Given the description of an element on the screen output the (x, y) to click on. 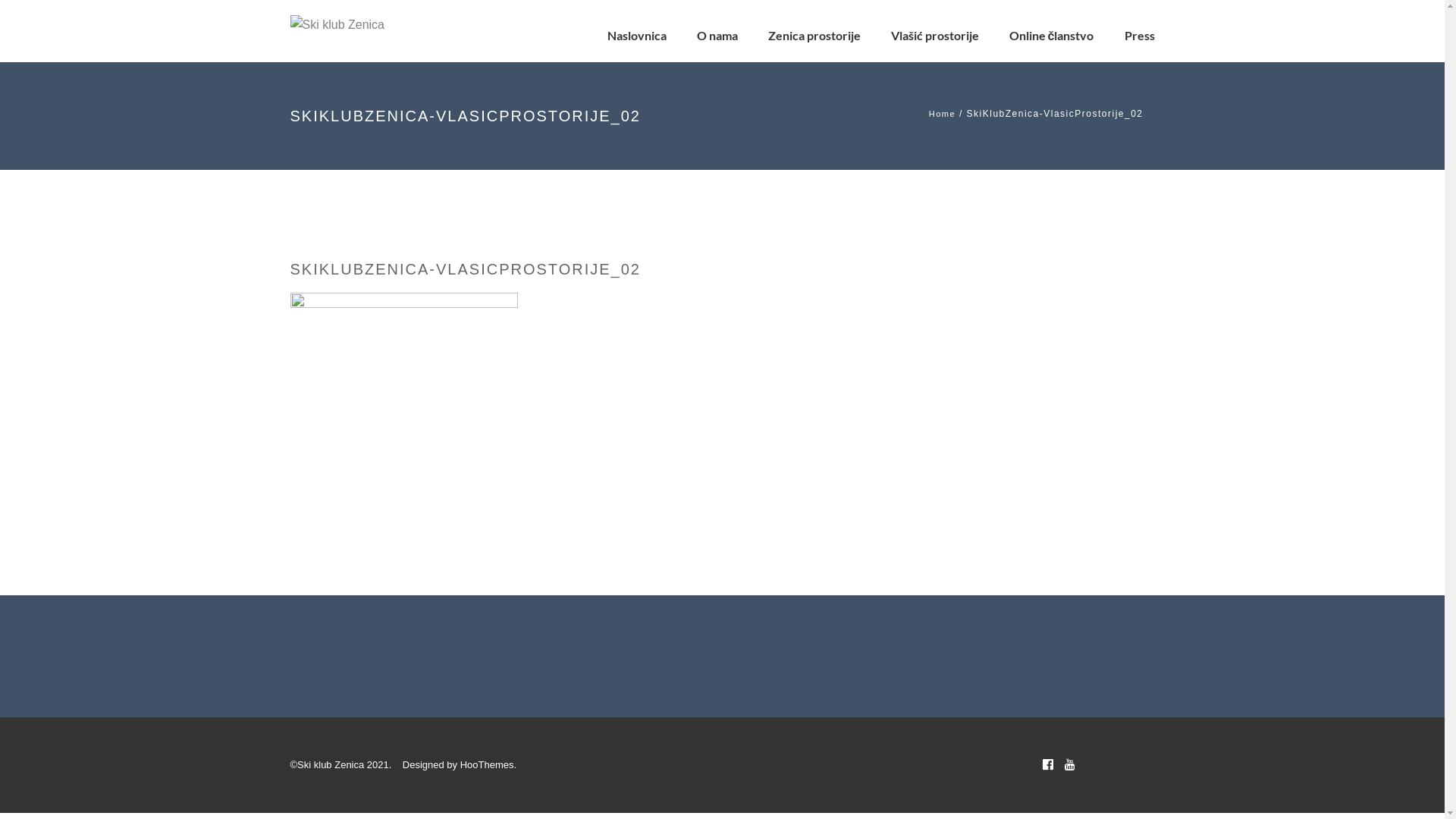
Home Element type: text (941, 113)
Press Element type: text (1138, 35)
Naslovnica Element type: text (636, 35)
youtube Element type: hover (1069, 764)
HooThemes Element type: text (487, 764)
facebook Element type: hover (1046, 764)
O nama Element type: text (716, 35)
Zenica prostorije Element type: text (814, 35)
